Given the description of an element on the screen output the (x, y) to click on. 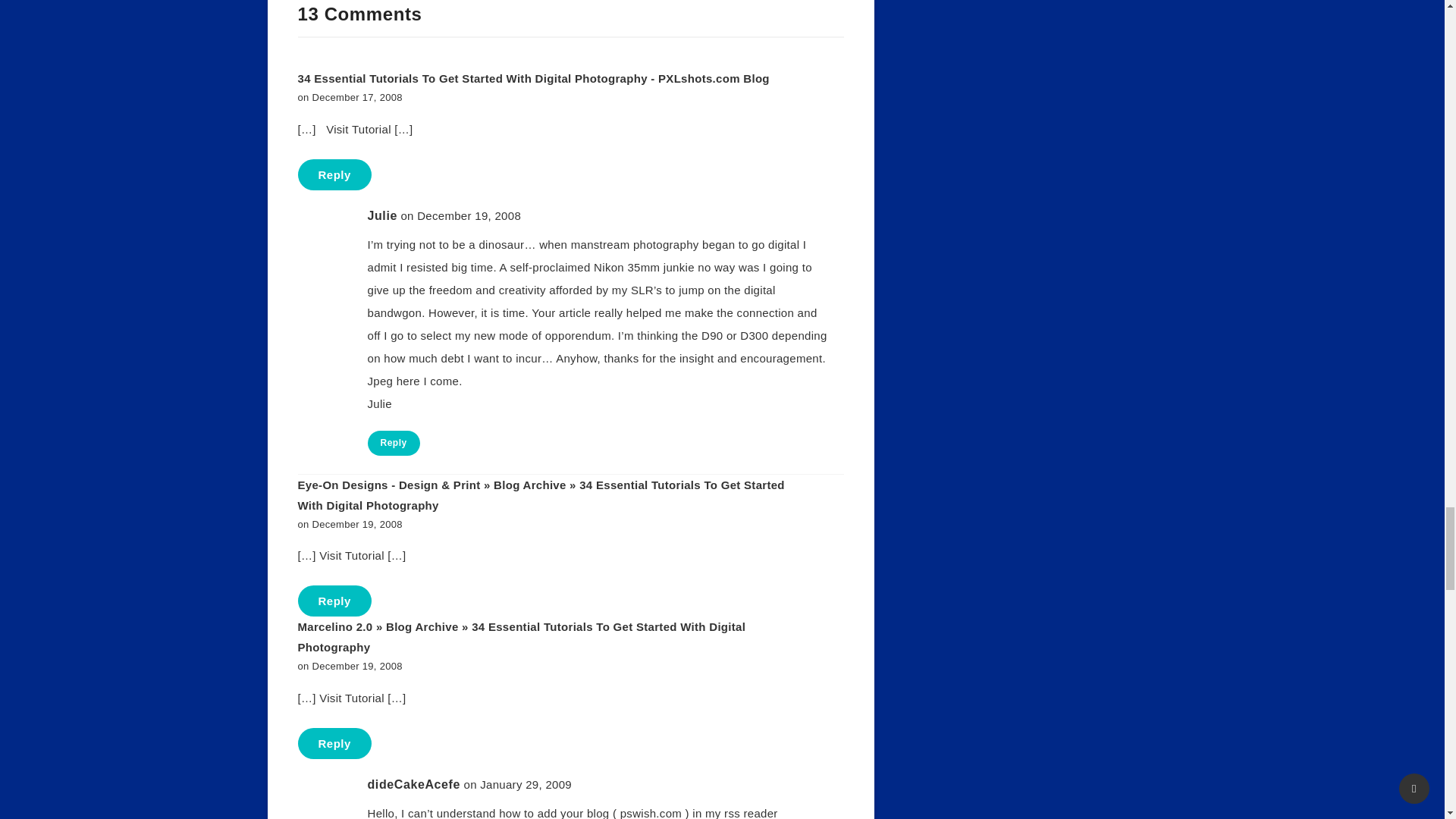
Reply (392, 443)
Reply (334, 174)
